Given the description of an element on the screen output the (x, y) to click on. 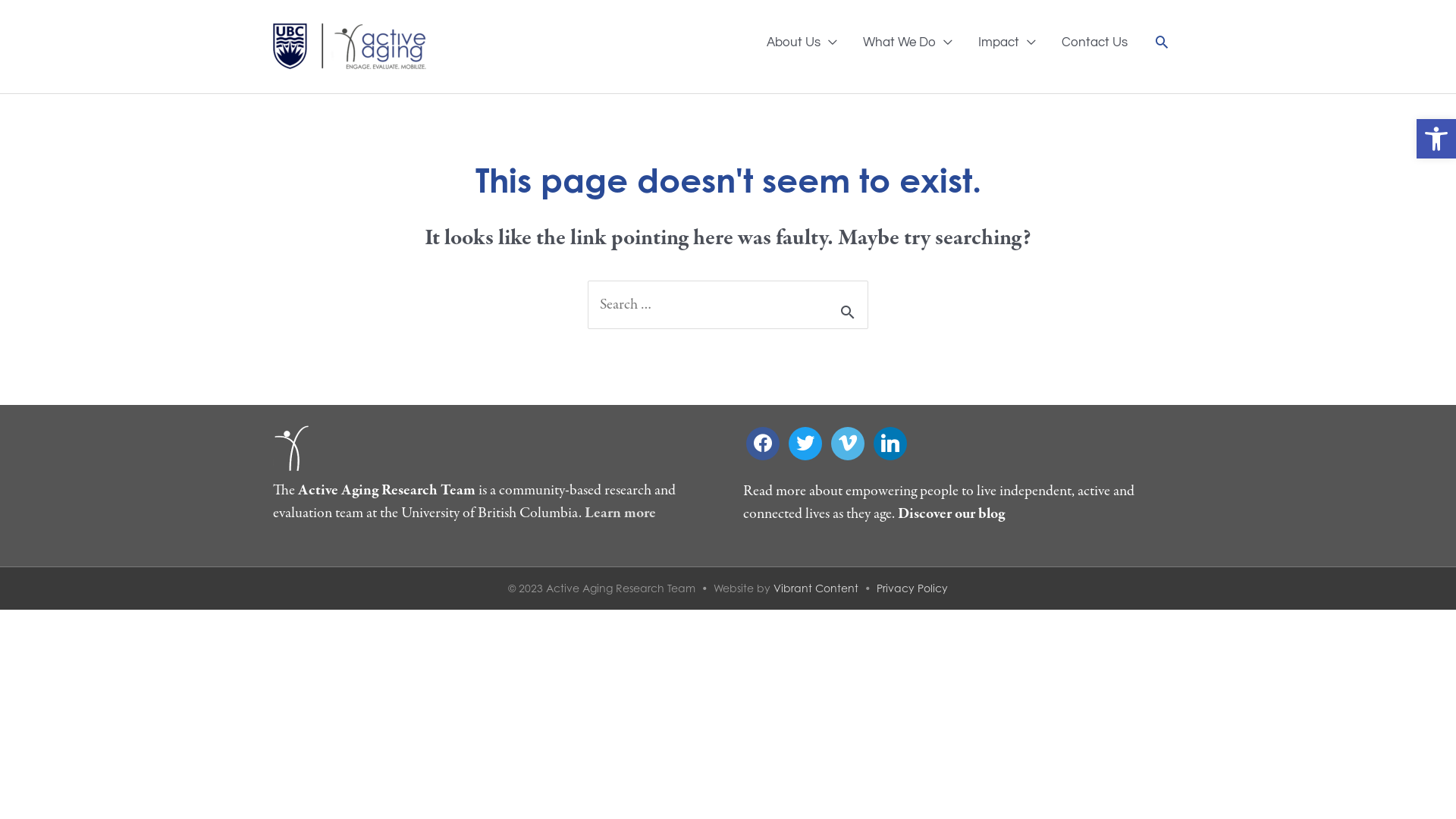
Contact Us Element type: text (1094, 42)
Privacy Policy Element type: text (911, 586)
What We Do Element type: text (907, 42)
twitter Element type: text (805, 442)
Search Element type: text (851, 304)
Search Element type: text (1161, 41)
Learn more Element type: text (619, 512)
Discover our blog Element type: text (950, 513)
linkedin Element type: text (889, 442)
vimeo Element type: text (847, 442)
Vibrant Content Element type: text (815, 586)
Impact Element type: text (1006, 42)
About Us Element type: text (801, 42)
facebook Element type: text (762, 442)
